Given the description of an element on the screen output the (x, y) to click on. 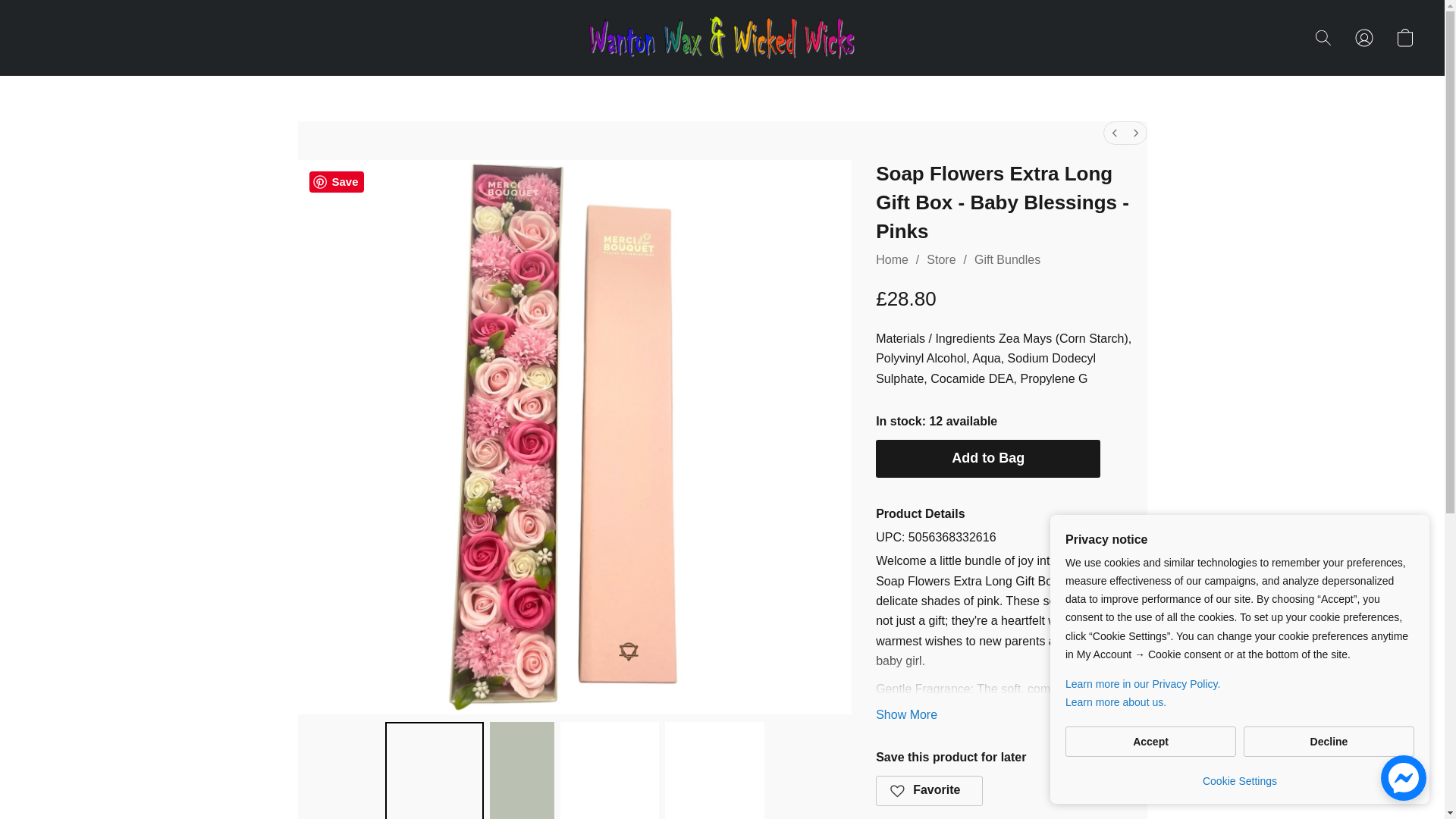
Accept (1150, 741)
Learn more about us. (1239, 701)
Show More (906, 714)
Search the website (1323, 37)
Home (892, 259)
Learn more in our Privacy Policy. (1239, 683)
Add to Bag (988, 458)
Favorite (929, 790)
Store (940, 259)
Save (336, 181)
Gift Bundles (1007, 259)
Go to your shopping cart (1404, 37)
